Given the description of an element on the screen output the (x, y) to click on. 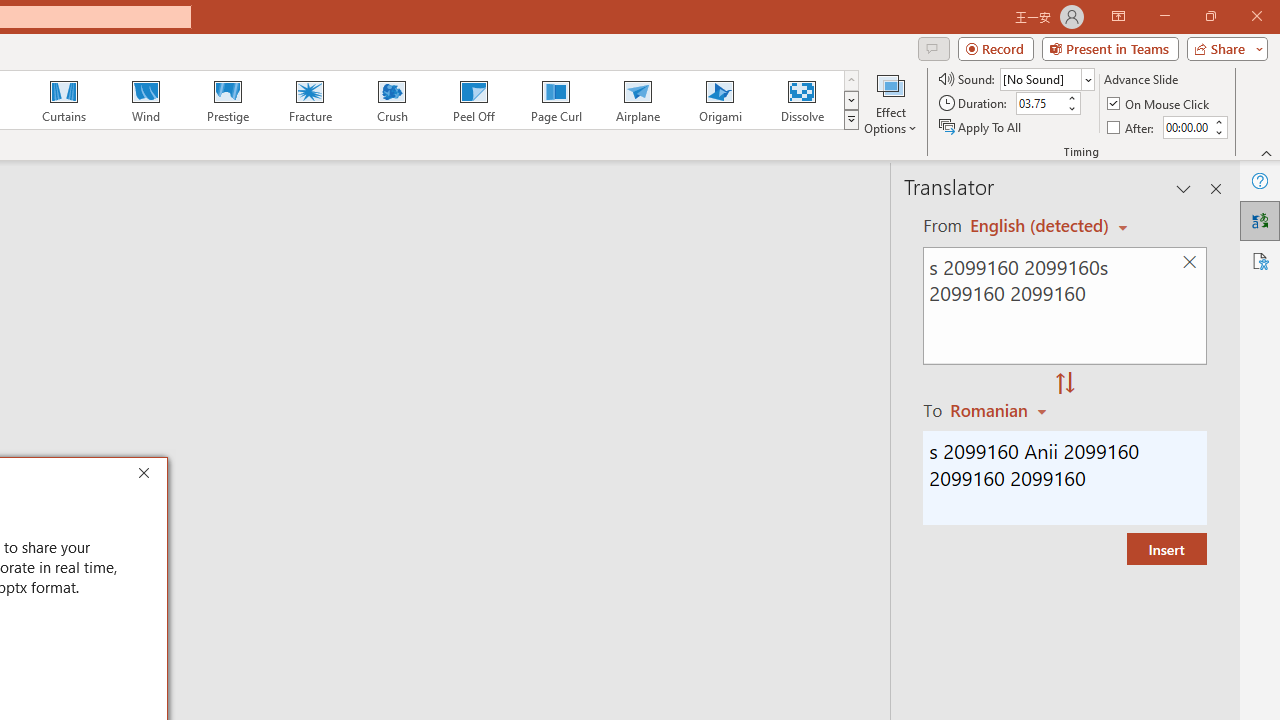
On Mouse Click (1159, 103)
Wind (145, 100)
Sound (1046, 78)
Duration (1039, 103)
Fracture (309, 100)
After (1131, 126)
Clear text (1189, 262)
Less (1218, 132)
